Given the description of an element on the screen output the (x, y) to click on. 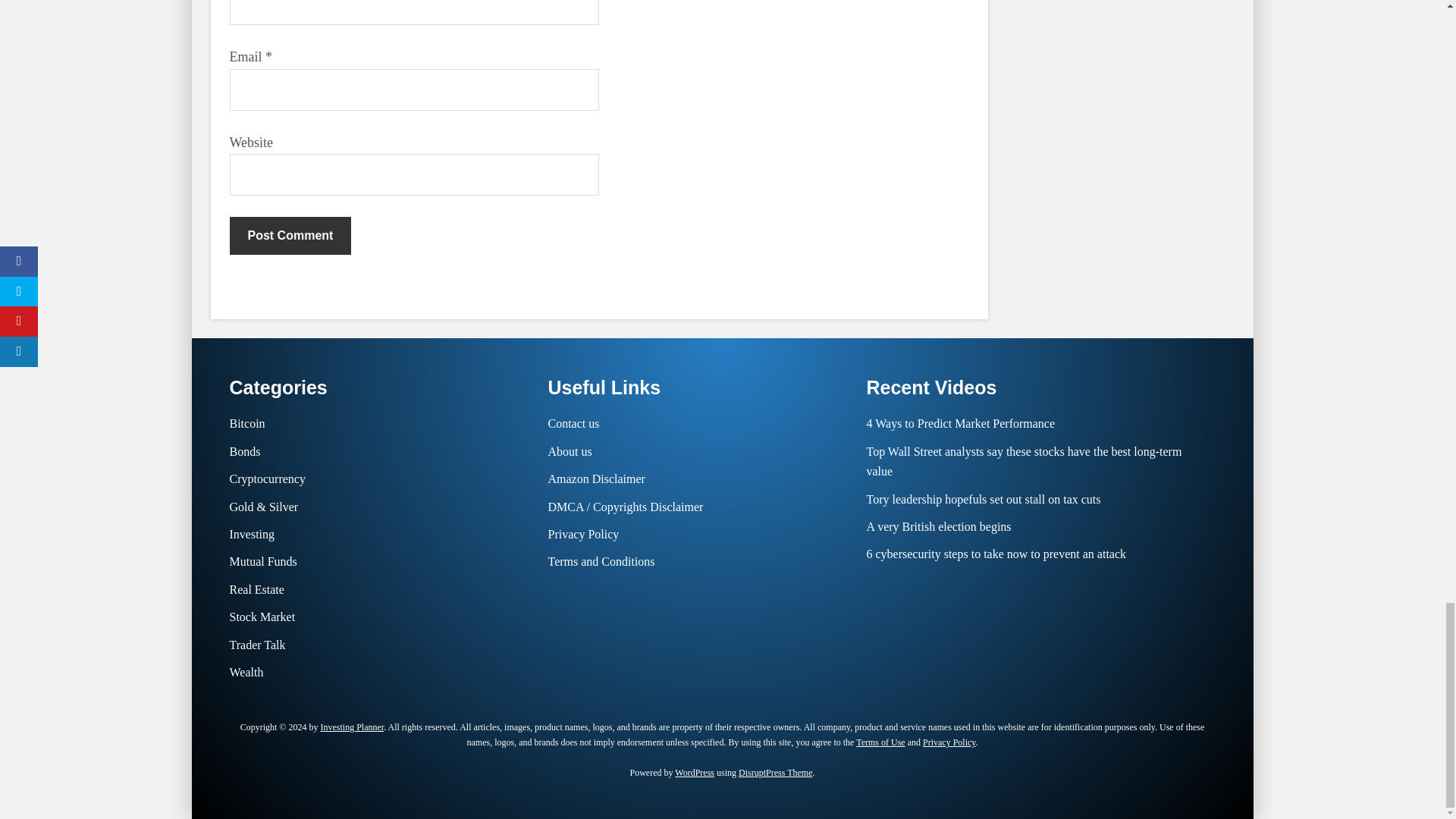
Post Comment (289, 235)
